Given the description of an element on the screen output the (x, y) to click on. 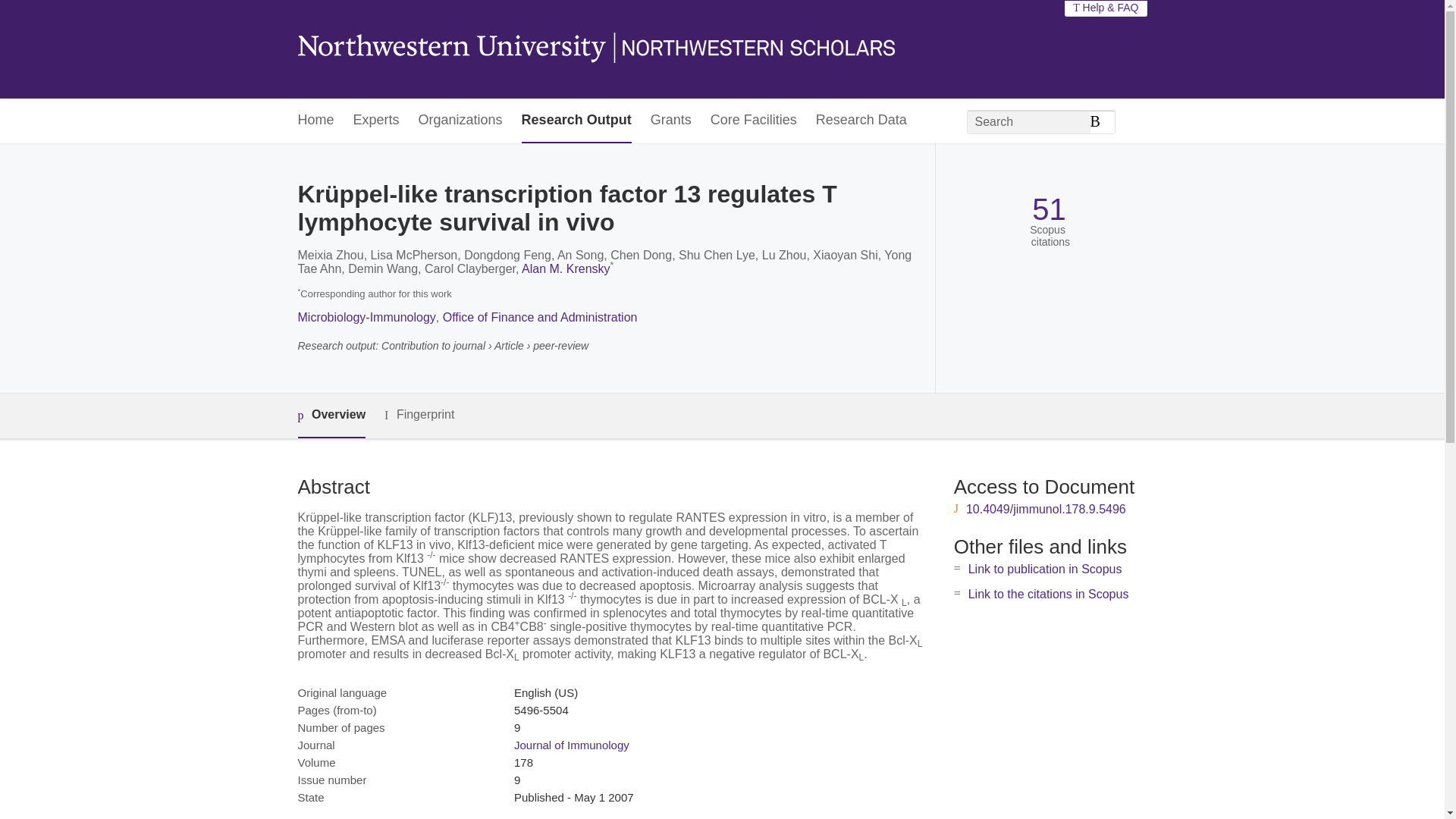
Research Data (861, 120)
Alan M. Krensky (565, 268)
Overview (331, 415)
Journal of Immunology (570, 744)
Experts (375, 120)
Northwestern Scholars Home (595, 49)
Fingerprint (419, 414)
Organizations (460, 120)
Link to publication in Scopus (1045, 568)
Core Facilities (753, 120)
